Given the description of an element on the screen output the (x, y) to click on. 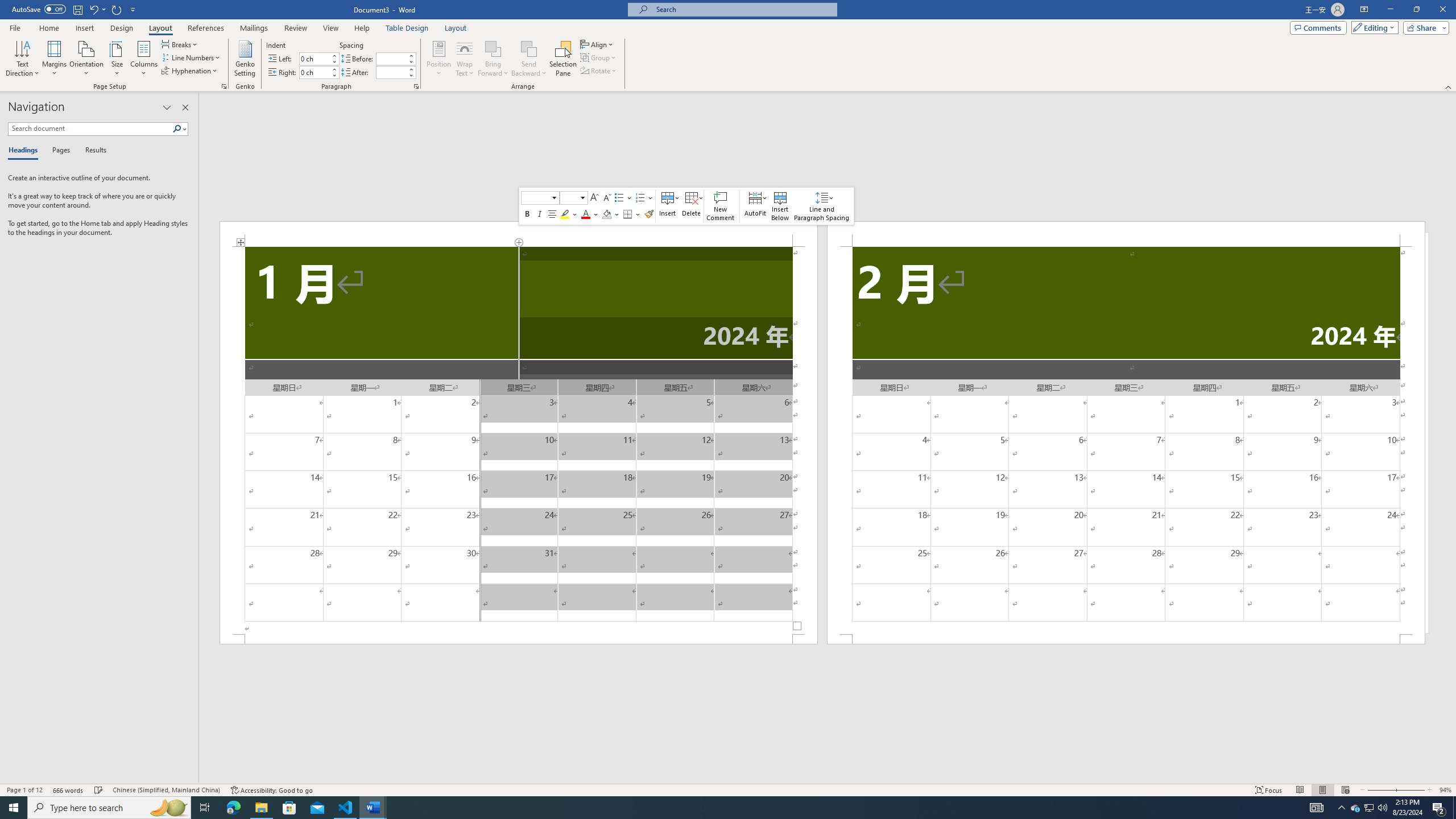
Page Number Page 1 of 12 (24, 790)
Class: NetUIToolWindow (686, 205)
Breaks (179, 44)
Less (411, 75)
Delete (691, 205)
